Given the description of an element on the screen output the (x, y) to click on. 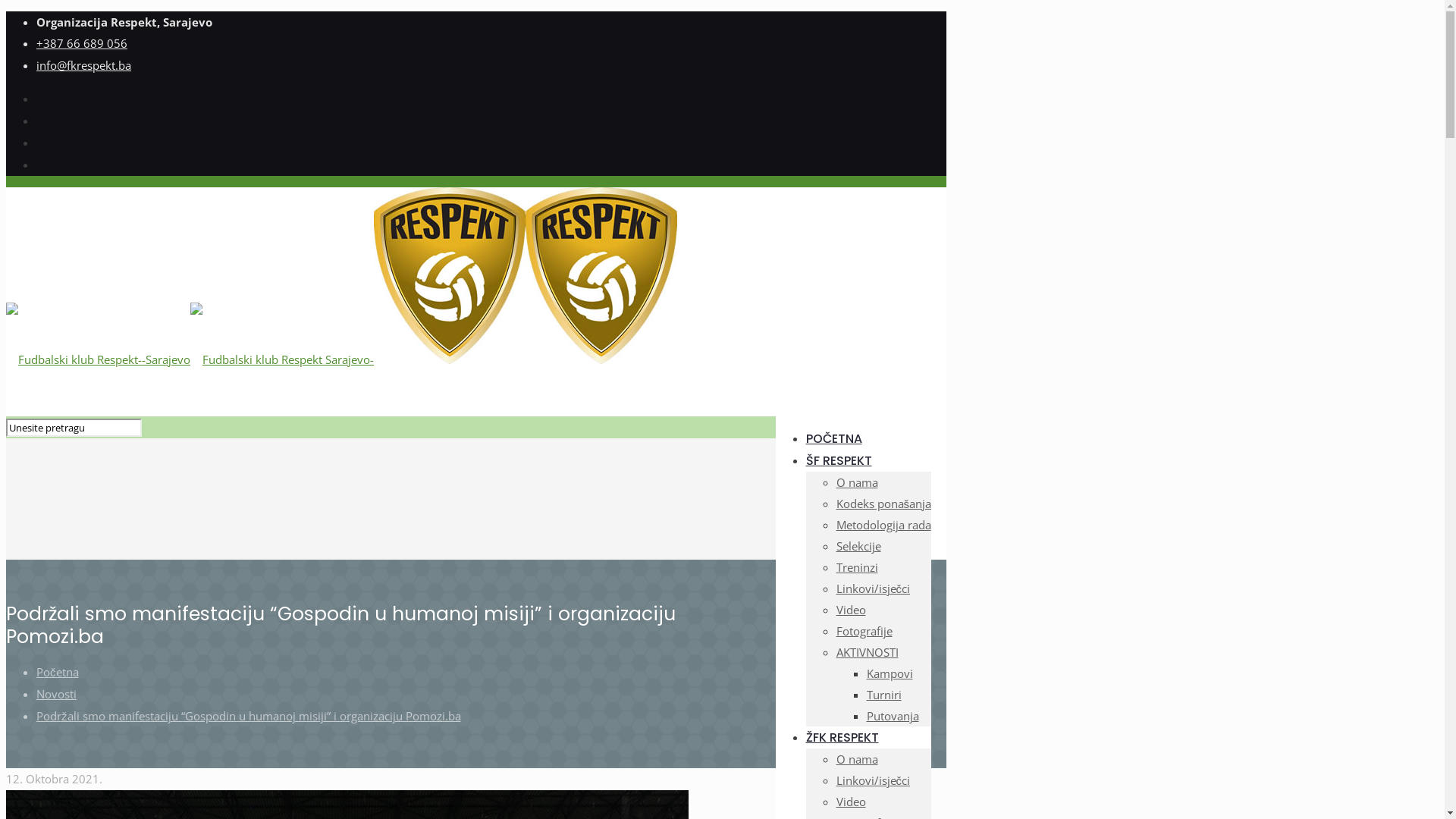
Video Element type: text (850, 801)
Selekcije Element type: text (857, 545)
AKTIVNOSTI Element type: text (866, 651)
Fotografije Element type: text (863, 630)
O nama Element type: text (856, 481)
Novosti Element type: text (56, 692)
Treninzi Element type: text (856, 566)
Metodologija rada Element type: text (882, 524)
info@fkrespekt.ba Element type: text (83, 64)
O nama Element type: text (856, 758)
Video Element type: text (850, 609)
Turniri Element type: text (883, 694)
Kampovi Element type: text (889, 672)
+387 66 689 056 Element type: text (81, 42)
Fudbalski klub Respekt Element type: hover (341, 359)
Putovanja Element type: text (892, 715)
